Given the description of an element on the screen output the (x, y) to click on. 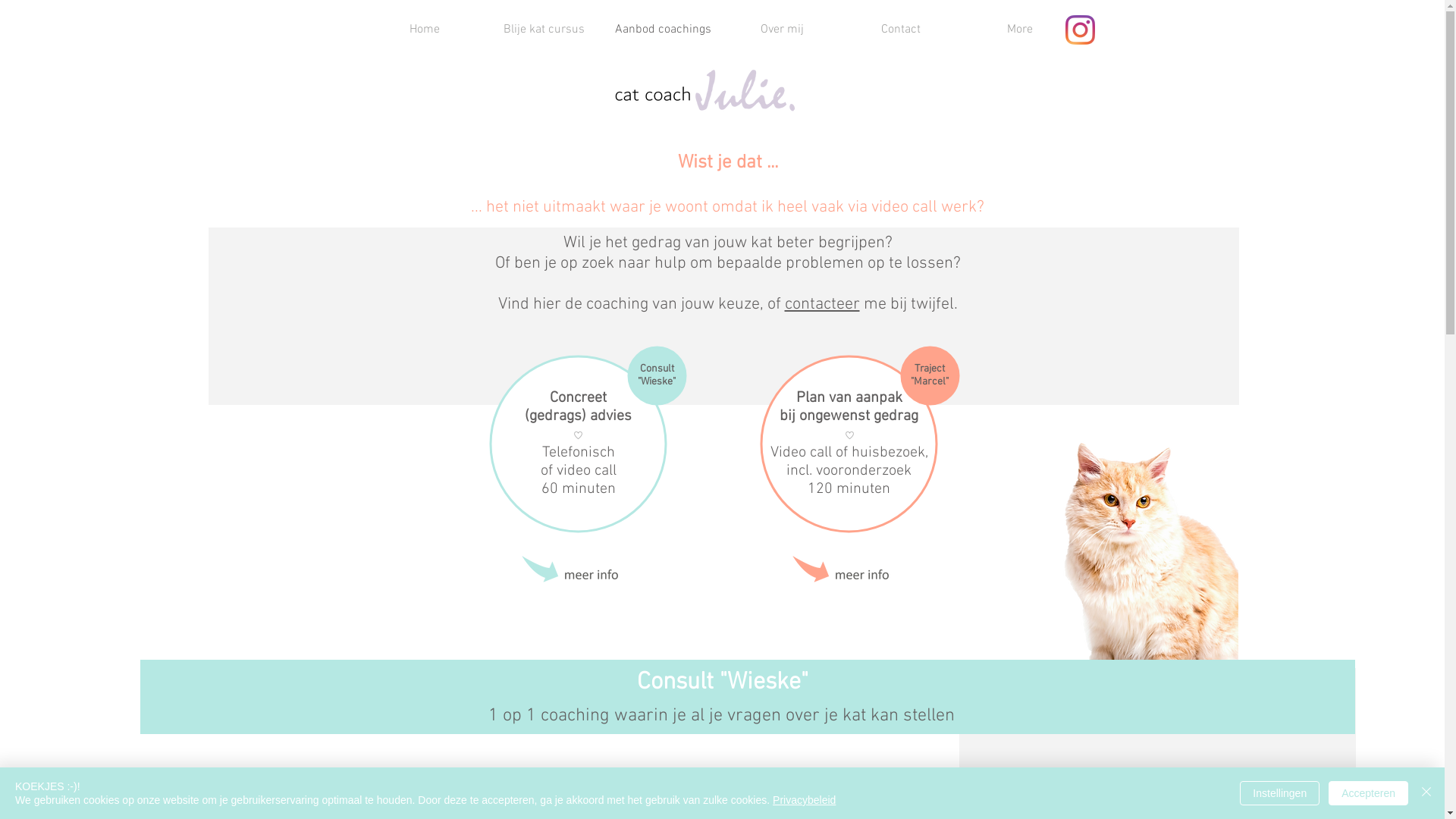
Aanbod coachings Element type: text (662, 29)
Instellingen Element type: text (1279, 793)
Privacybeleid Element type: text (803, 799)
Over mij Element type: text (780, 29)
Contact Element type: text (900, 29)
Home Element type: text (424, 29)
Blije kat cursus Element type: text (542, 29)
contacteer Element type: text (821, 304)
Accepteren Element type: text (1368, 793)
